Given the description of an element on the screen output the (x, y) to click on. 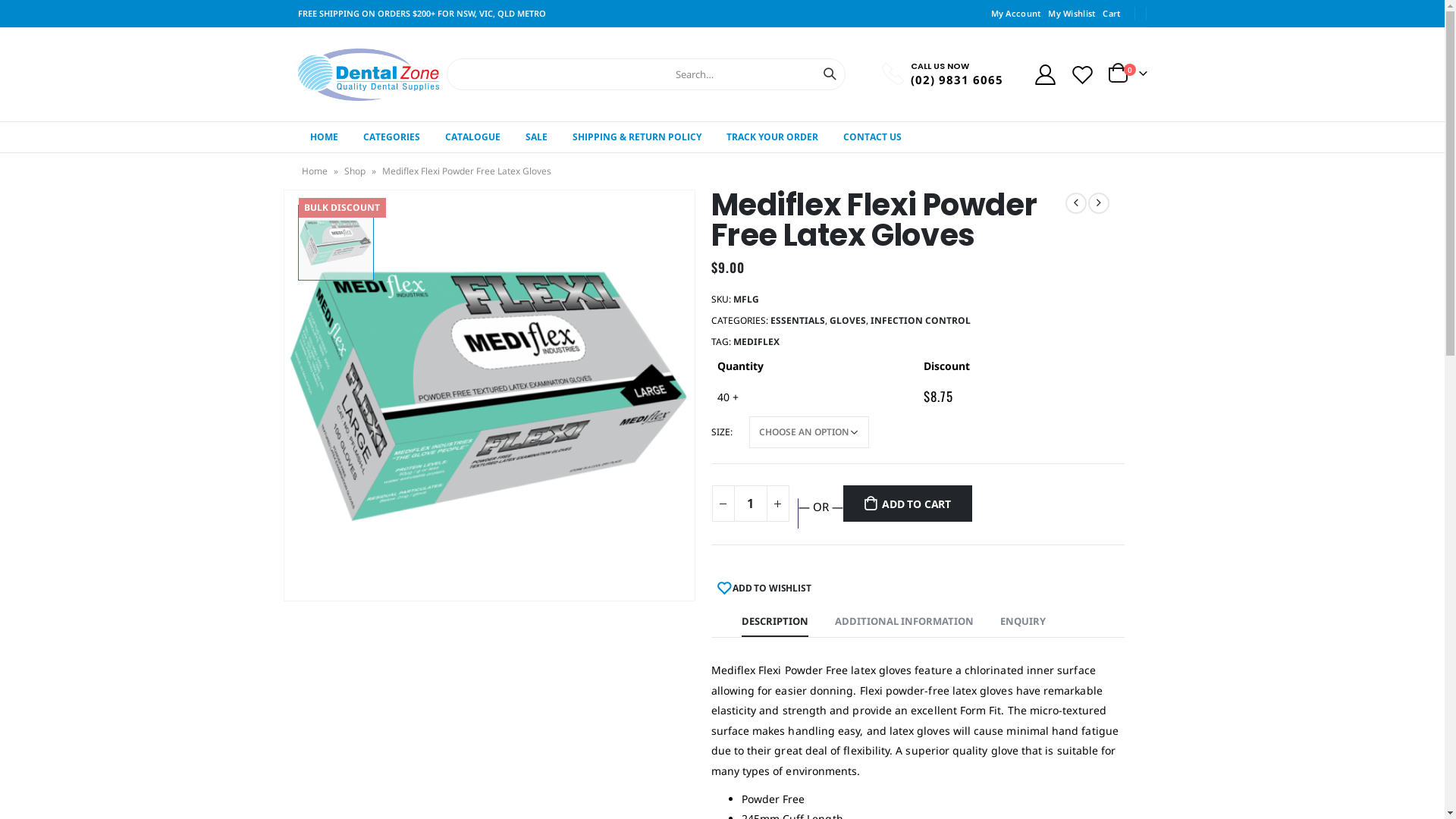
Home Element type: text (314, 170)
Wishlist Element type: hover (1082, 74)
CONTACT US Element type: text (872, 137)
- Element type: text (722, 503)
TRACK YOUR ORDER Element type: text (772, 137)
My Account Element type: text (1015, 13)
ADD TO CART Element type: text (907, 503)
INFECTION CONTROL Element type: text (920, 320)
ESSENTIALS Element type: text (797, 320)
Search Element type: hover (829, 74)
HOME Element type: text (323, 137)
Shop Element type: text (354, 170)
MEDIFLEX Element type: text (755, 341)
Dental Zone - Dental Zone Element type: hover (368, 74)
CATEGORIES Element type: text (390, 137)
SHIPPING & RETURN POLICY Element type: text (635, 137)
Qty Element type: hover (750, 503)
+ Element type: text (776, 503)
flexi-500x500 Element type: hover (488, 395)
Secure payment button frame Element type: hover (797, 513)
My Account Element type: hover (1045, 74)
CATALOGUE Element type: text (471, 137)
Cart Element type: text (1110, 13)
GLOVES Element type: text (847, 320)
SALE Element type: text (535, 137)
ADD TO WISHLIST Element type: text (764, 588)
My Wishlist Element type: text (1071, 13)
